Given the description of an element on the screen output the (x, y) to click on. 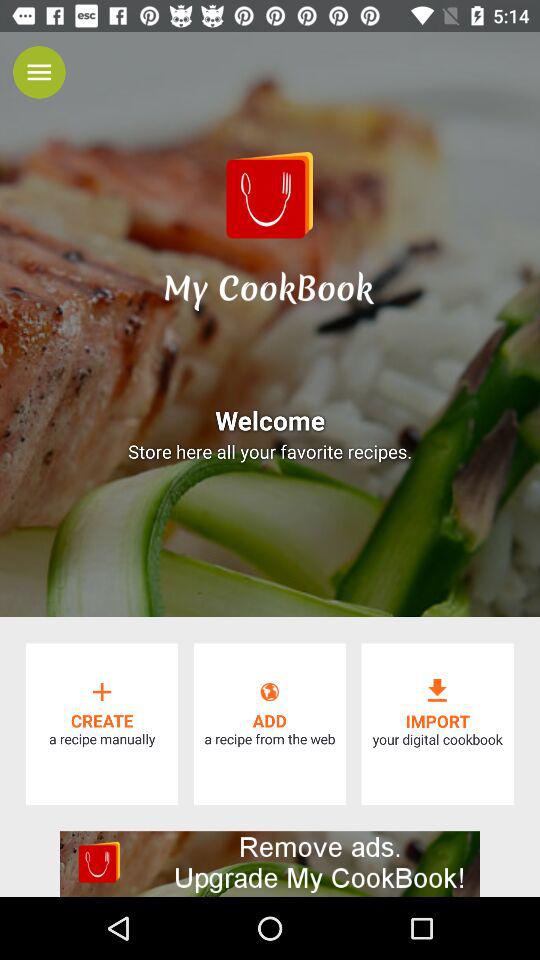
menu items (39, 72)
